Given the description of an element on the screen output the (x, y) to click on. 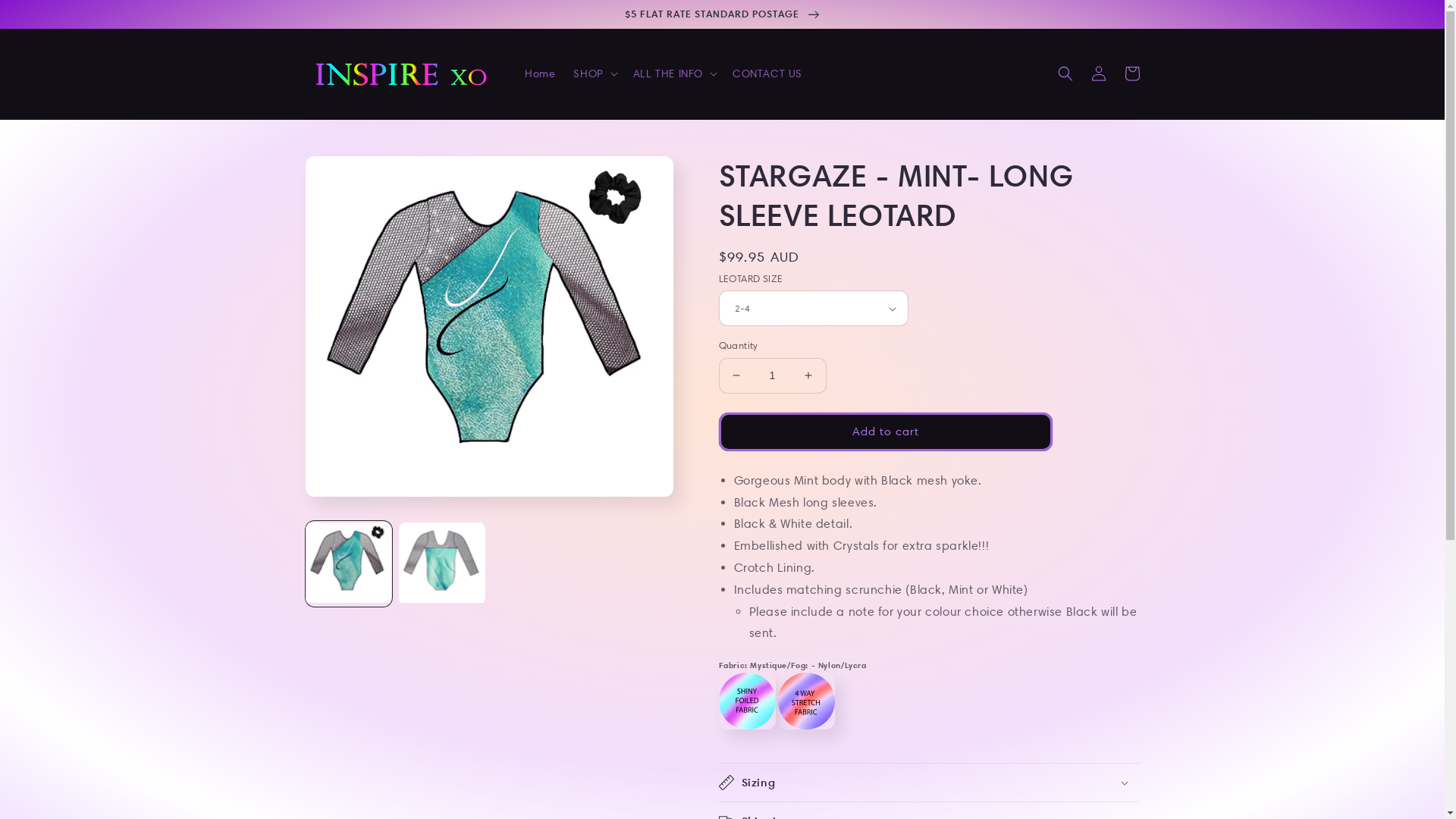
$5 FLAT RATE STANDARD POSTAGE Element type: text (722, 14)
Cart Element type: text (1131, 73)
Log in Element type: text (1097, 73)
Home Element type: text (539, 73)
Add to cart Element type: text (885, 431)
Decrease quantity for STARGAZE - MINT- LONG SLEEVE LEOTARD Element type: text (735, 375)
Skip to product information Element type: text (352, 174)
Increase quantity for STARGAZE - MINT- LONG SLEEVE LEOTARD Element type: text (808, 375)
CONTACT US Element type: text (767, 73)
